Given the description of an element on the screen output the (x, y) to click on. 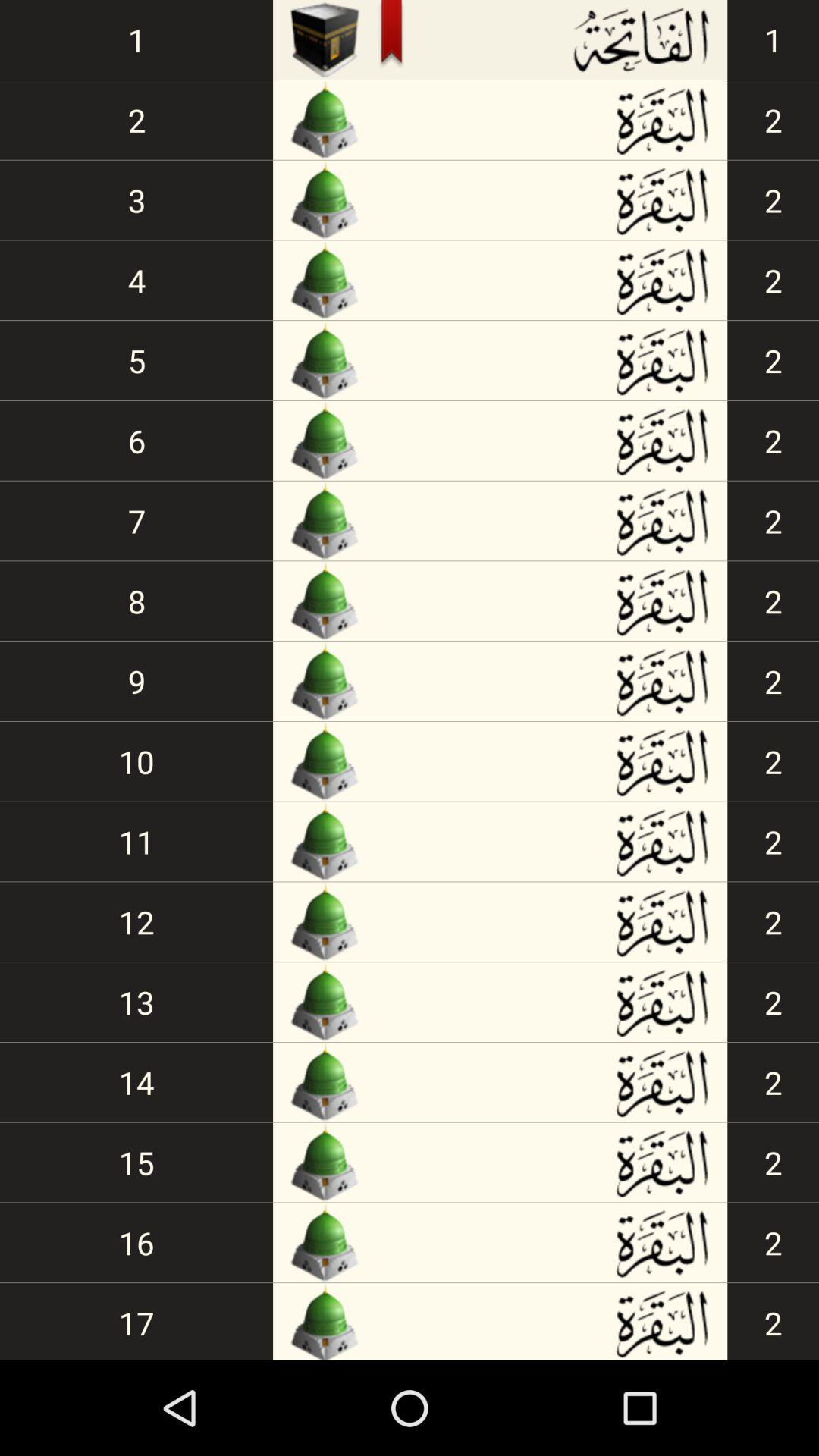
launch the app below the 14 (136, 1162)
